Given the description of an element on the screen output the (x, y) to click on. 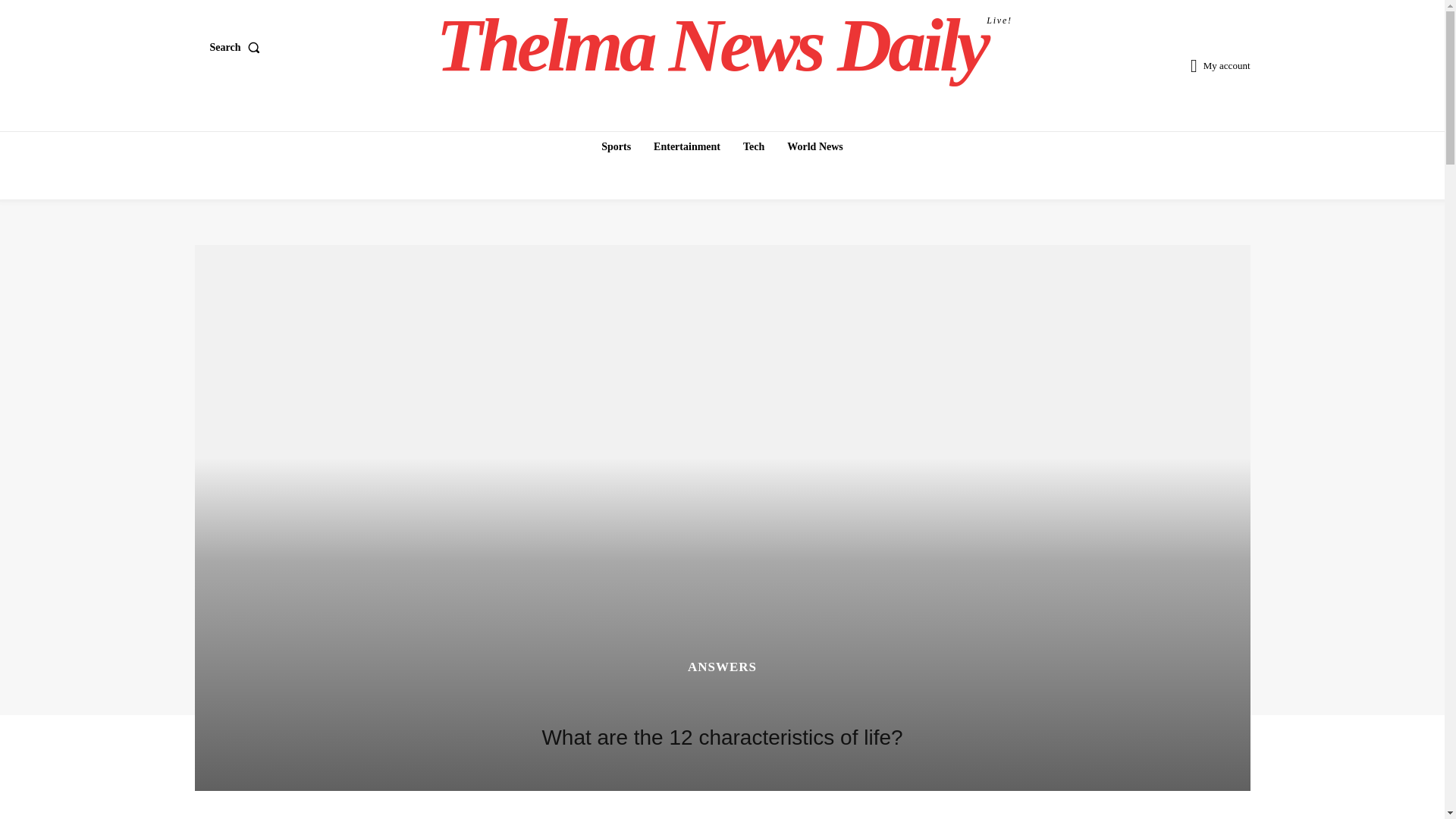
Tech (753, 146)
Sports (616, 146)
ANSWERS (722, 666)
Entertainment (724, 45)
Search (687, 146)
World News (237, 47)
